Given the description of an element on the screen output the (x, y) to click on. 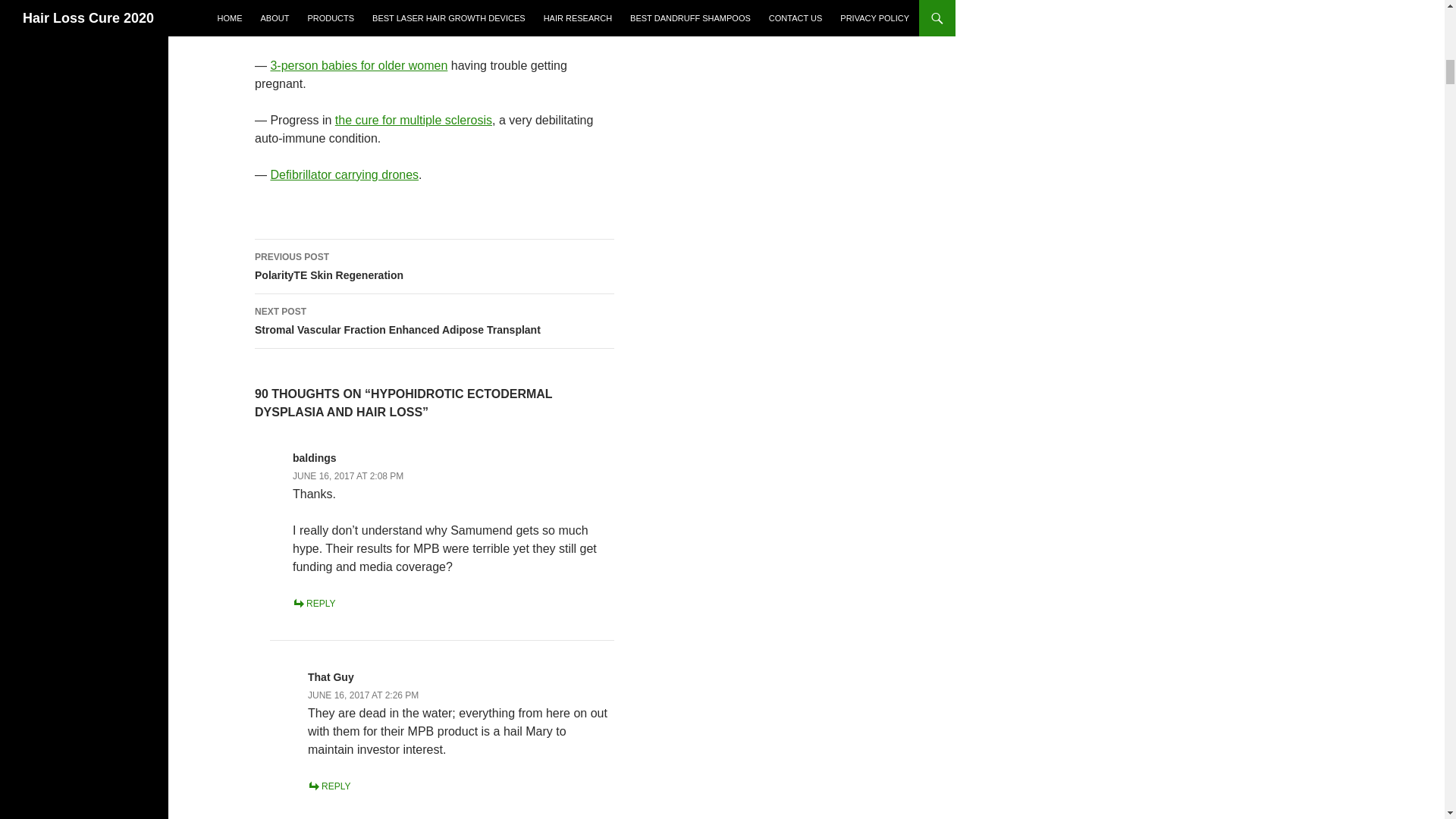
JUNE 16, 2017 AT 2:08 PM (347, 475)
A drug that creates a real sun-tan (359, 10)
3-person babies for older women (357, 65)
JUNE 16, 2017 AT 2:26 PM (363, 695)
REPLY (434, 266)
the cure for multiple sclerosis (328, 786)
REPLY (413, 119)
Defibrillator carrying drones (313, 603)
